Given the description of an element on the screen output the (x, y) to click on. 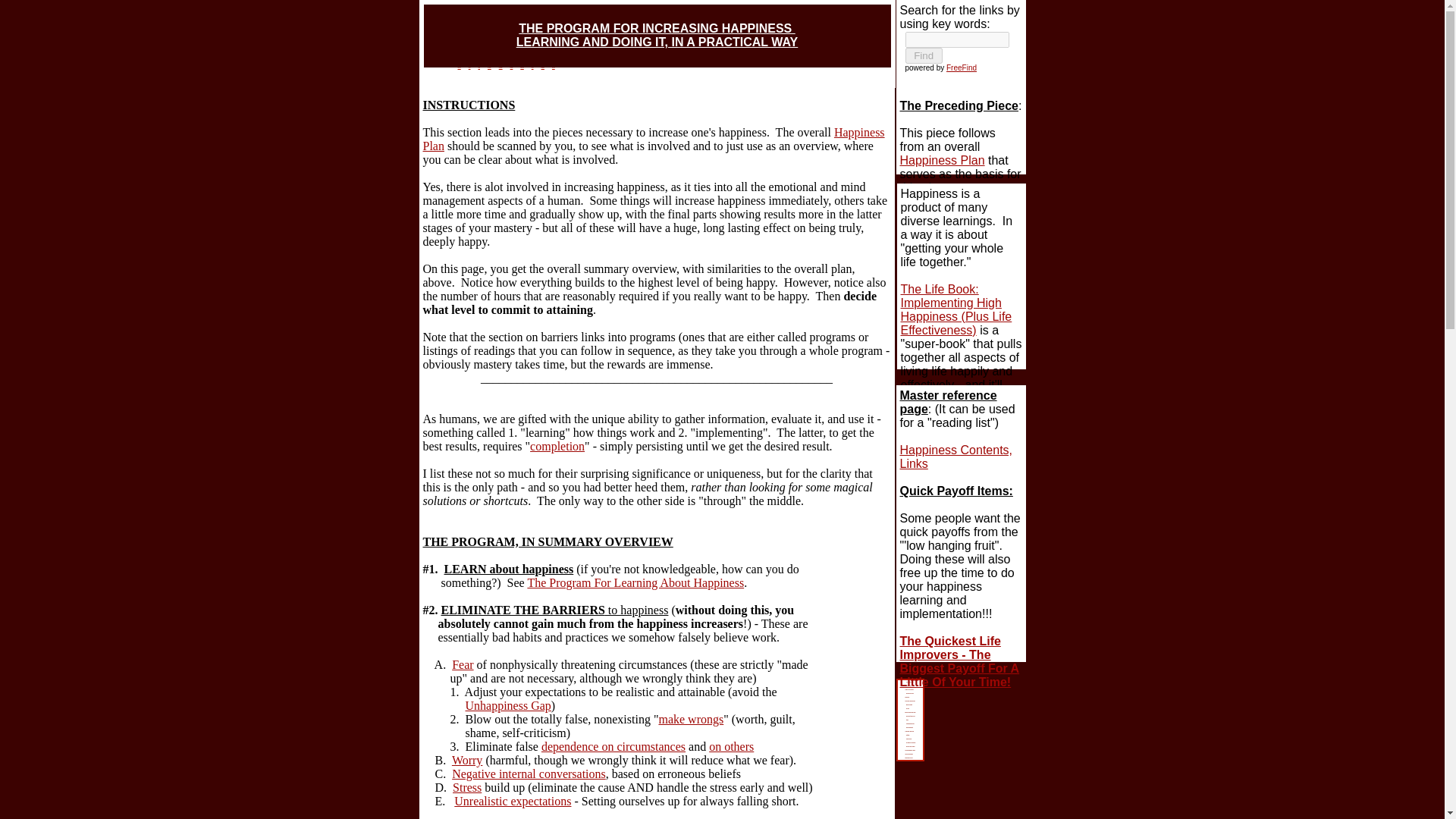
Unrealistic expectations (512, 800)
PROGRAM! (910, 697)
     Stress   (910, 719)
MANAGING THE MIND Main (910, 700)
Happiness Plan (654, 139)
Negative internal conversations (528, 773)
completion (557, 445)
Fear (462, 664)
      PSYCH MAIN PAGE (910, 681)
dependence on circumstances (613, 746)
